Given the description of an element on the screen output the (x, y) to click on. 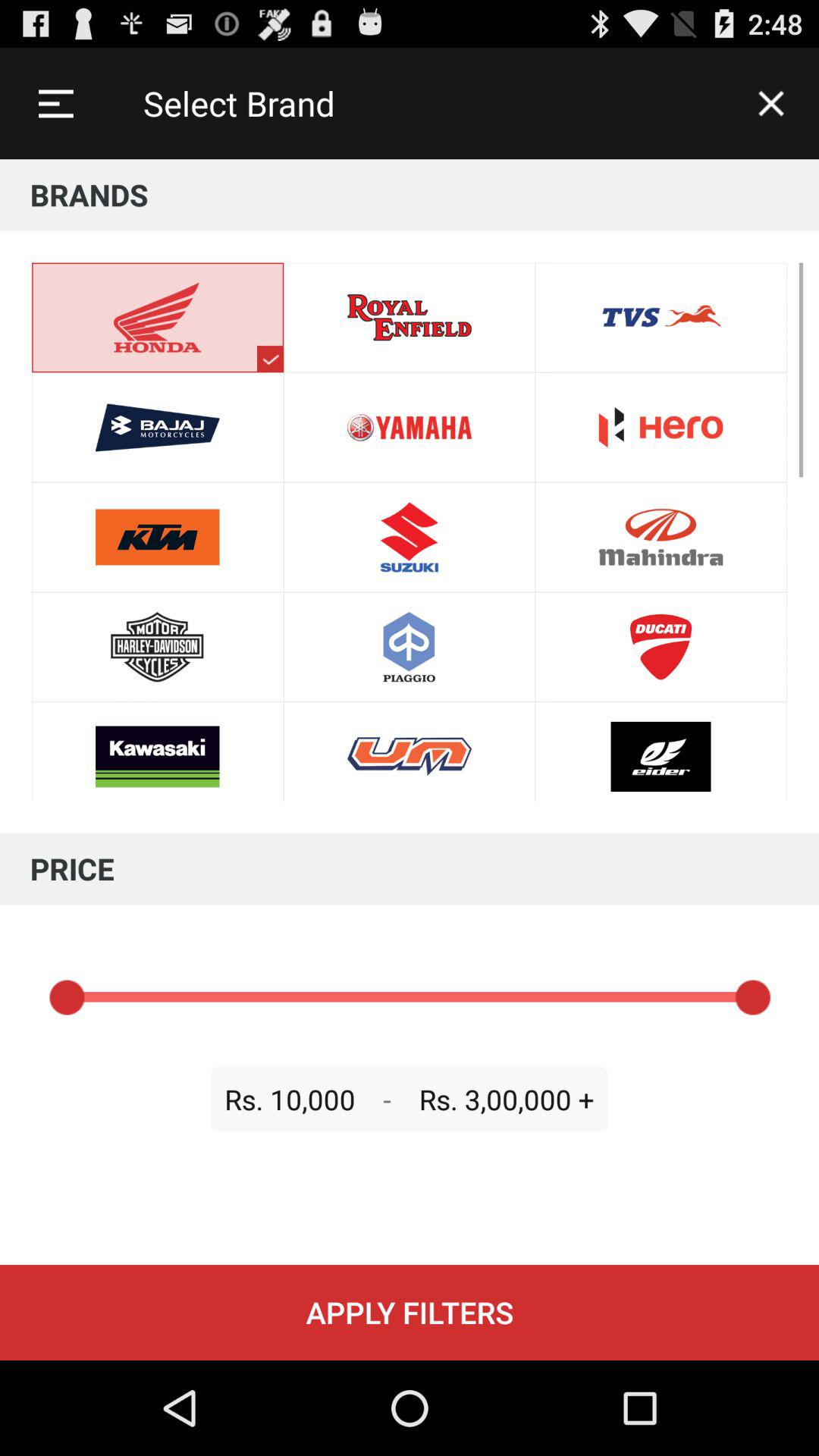
flip until apply filters item (409, 1312)
